Given the description of an element on the screen output the (x, y) to click on. 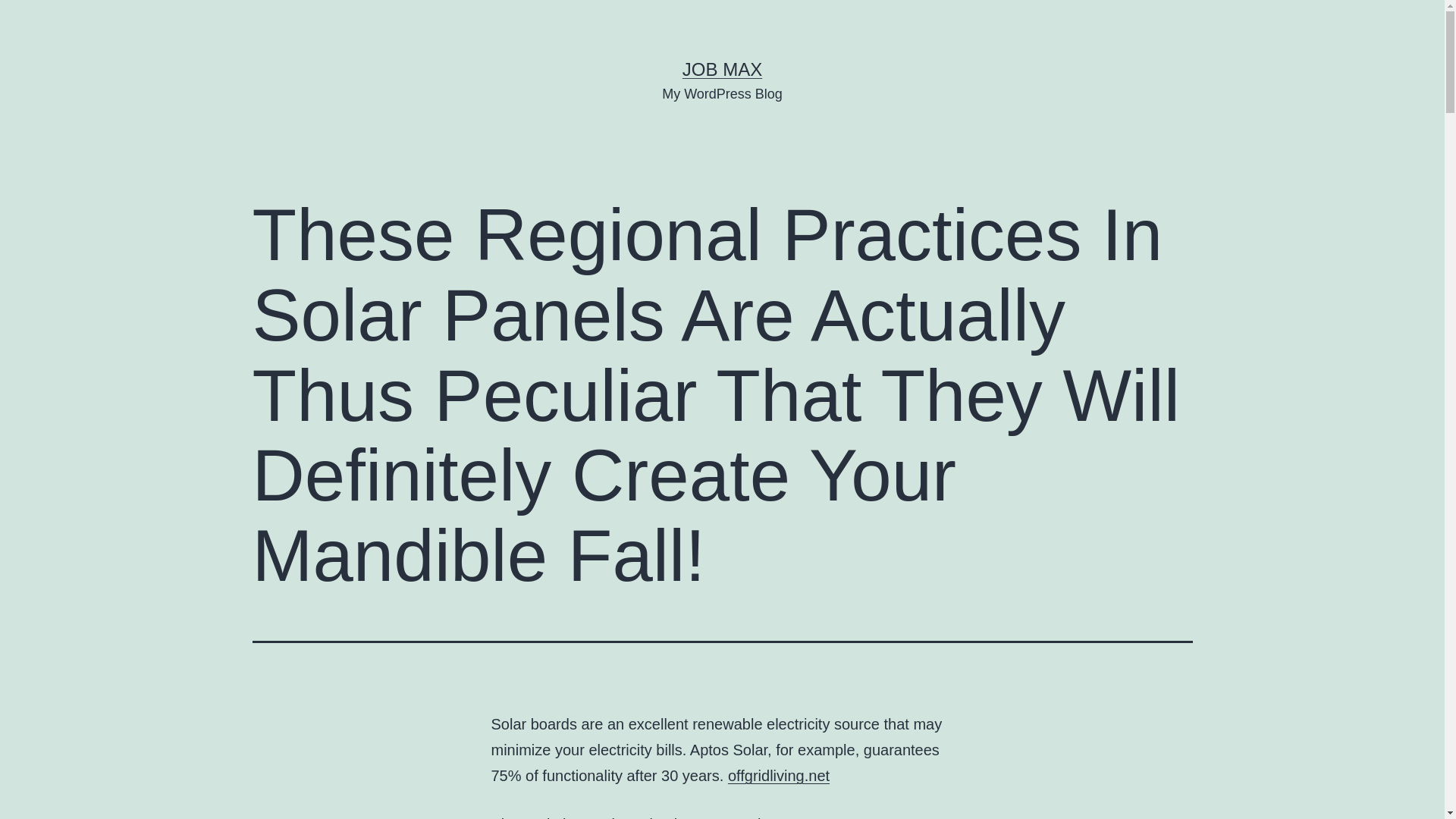
offgridliving.net (778, 775)
JOB MAX (721, 68)
